Given the description of an element on the screen output the (x, y) to click on. 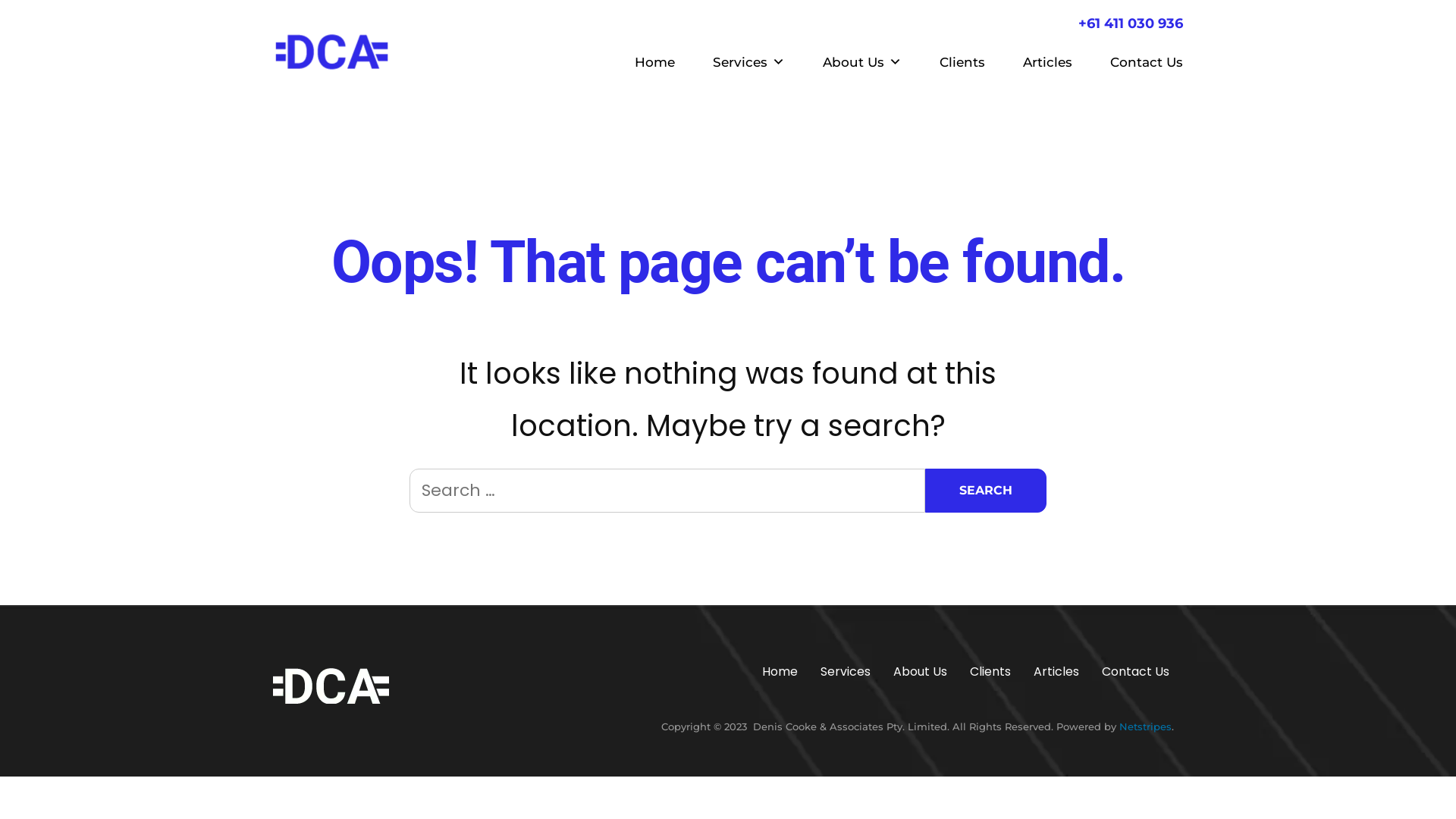
Clients Element type: text (962, 61)
About Us Element type: text (861, 61)
Netstripes Element type: text (1145, 726)
Articles Element type: text (1056, 672)
Services Element type: text (845, 672)
+61 411 030 936 Element type: text (1130, 23)
Home Element type: text (654, 61)
Services Element type: text (748, 61)
Search Element type: text (985, 489)
About Us Element type: text (920, 672)
Contact Us Element type: text (1137, 61)
Home Element type: text (779, 672)
Contact Us Element type: text (1135, 672)
Clients Element type: text (989, 672)
Articles Element type: text (1047, 61)
